Given the description of an element on the screen output the (x, y) to click on. 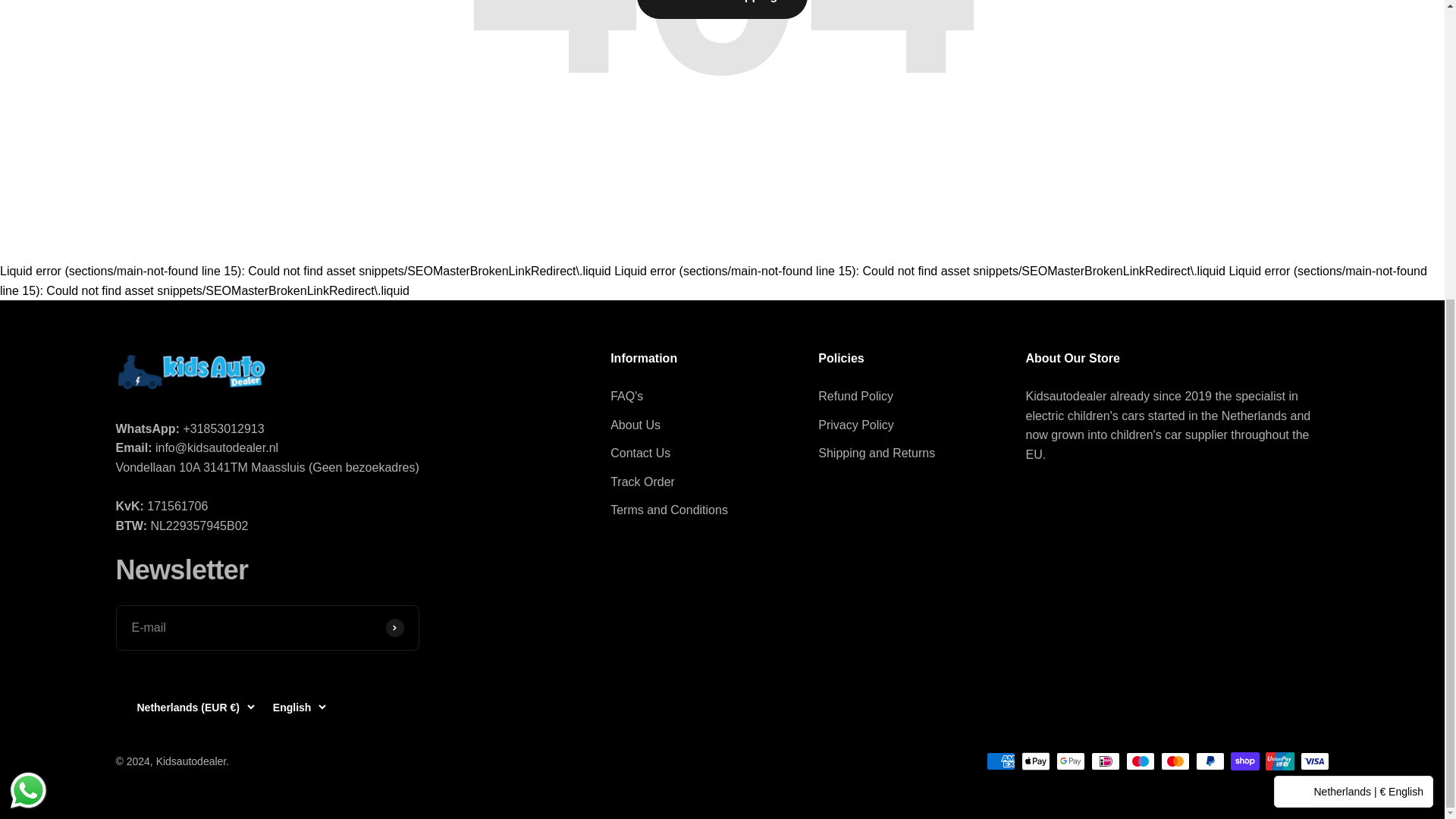
Refund Policy (855, 396)
Terms and Conditions (669, 510)
FAQ's (626, 396)
Subscribe (394, 628)
About Us (635, 424)
Privacy Policy (855, 424)
Track Order (642, 482)
Continue shopping (722, 9)
Contact Us (639, 453)
Shipping and Returns (876, 453)
